Given the description of an element on the screen output the (x, y) to click on. 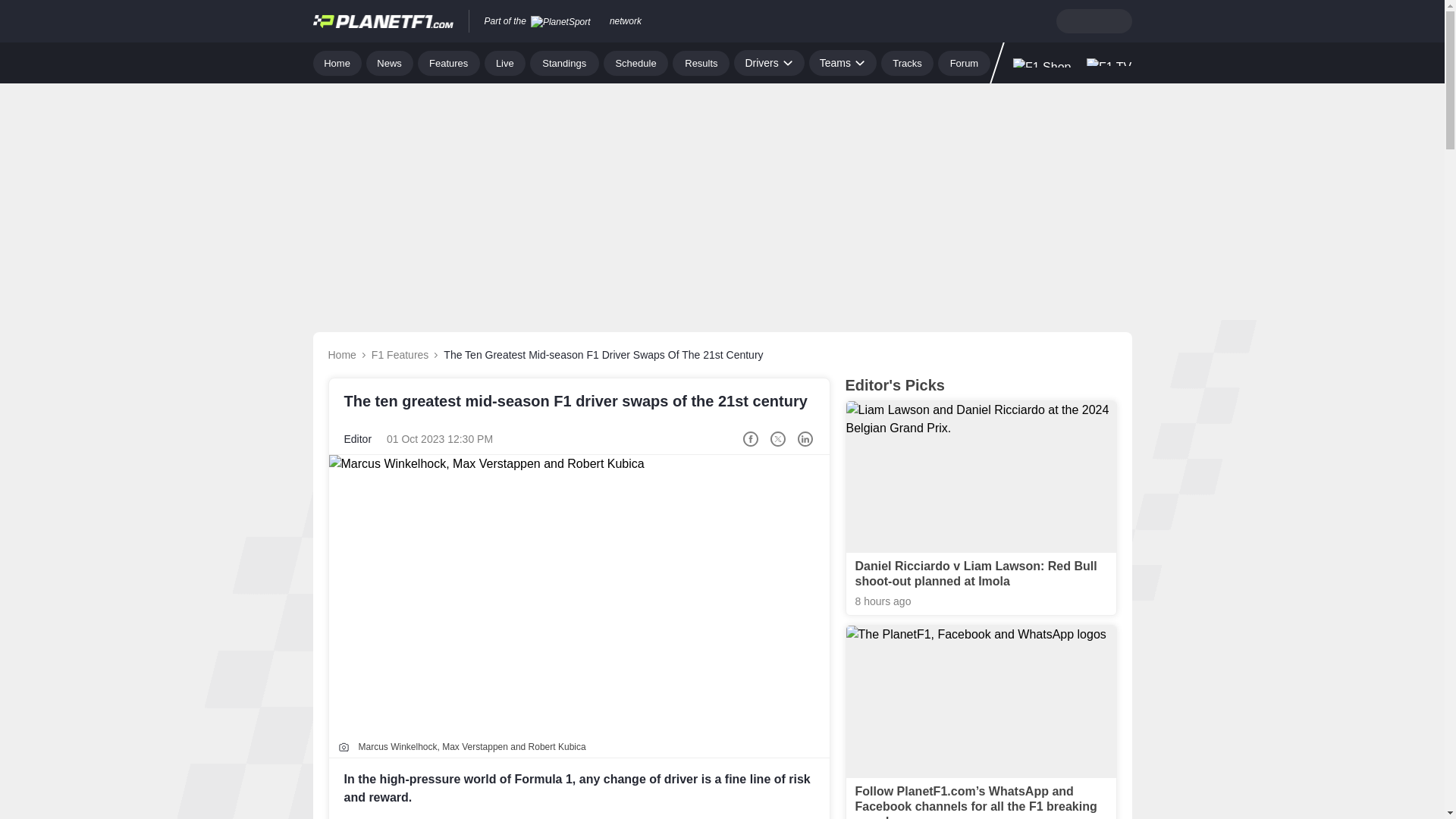
Results (700, 62)
Teams (842, 62)
Standings (563, 62)
Schedule (636, 62)
Home (337, 62)
Drivers (768, 62)
Features (448, 62)
News (389, 62)
Live (504, 62)
